Given the description of an element on the screen output the (x, y) to click on. 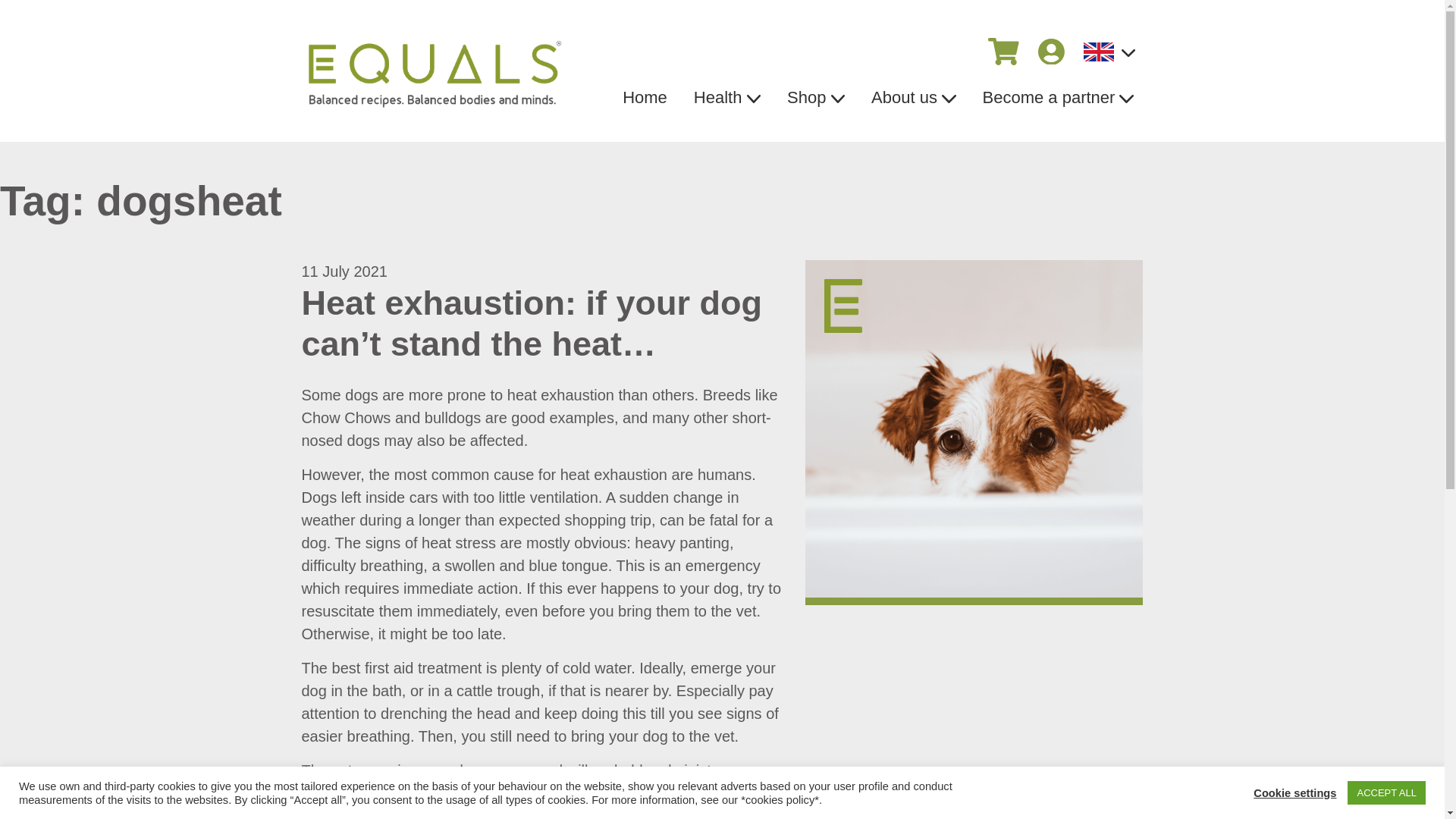
About us (914, 96)
Become a partner (1058, 96)
Shop (816, 96)
Health (726, 96)
Home (645, 96)
